Given the description of an element on the screen output the (x, y) to click on. 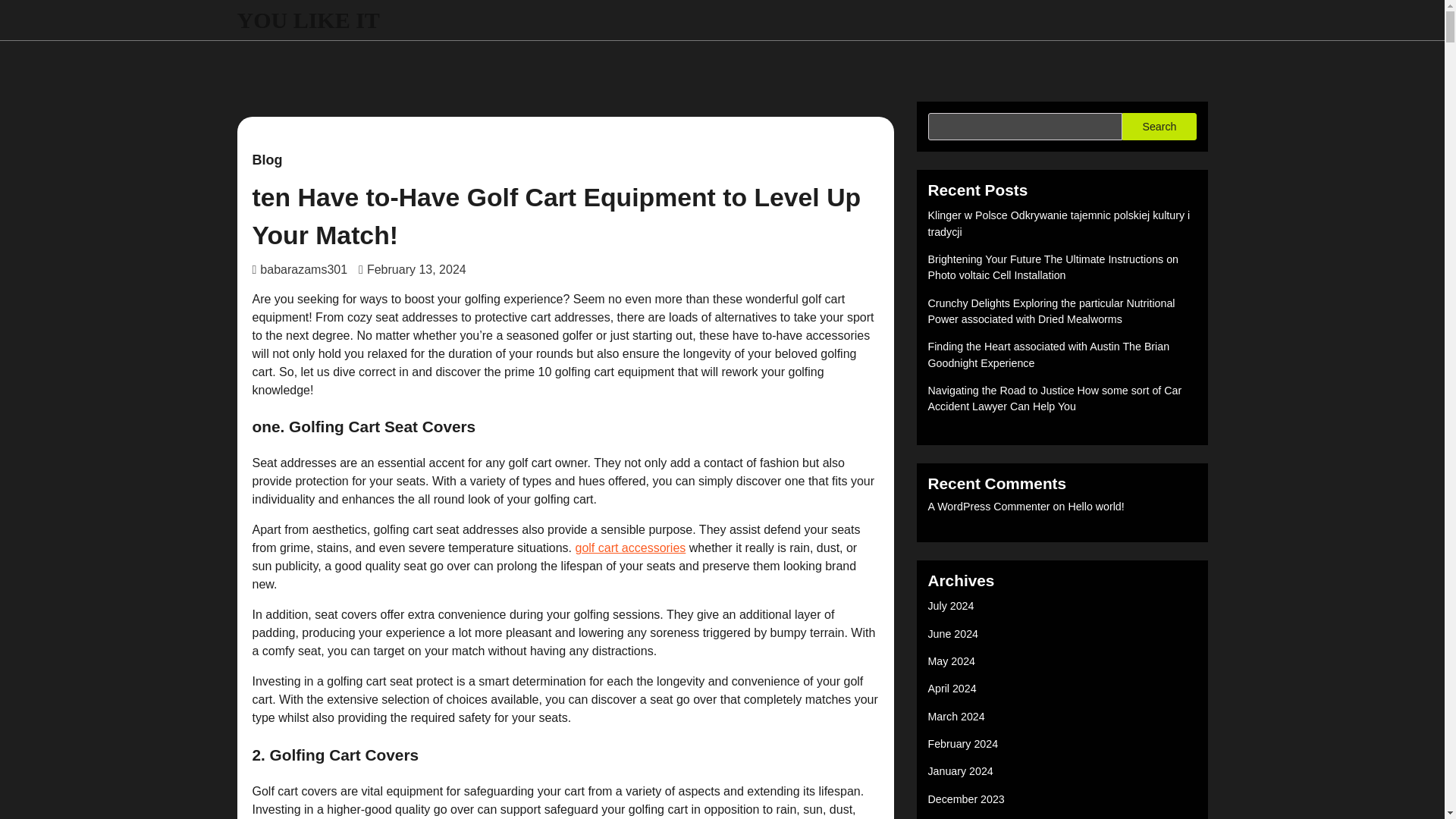
February 13, 2024 (411, 269)
YOU LIKE IT (306, 19)
April 2024 (952, 688)
February 2024 (963, 743)
Search (1158, 126)
January 2024 (960, 770)
Blog (266, 160)
May 2024 (951, 661)
March 2024 (956, 716)
July 2024 (951, 605)
December 2023 (966, 799)
babarazams301 (299, 269)
